Given the description of an element on the screen output the (x, y) to click on. 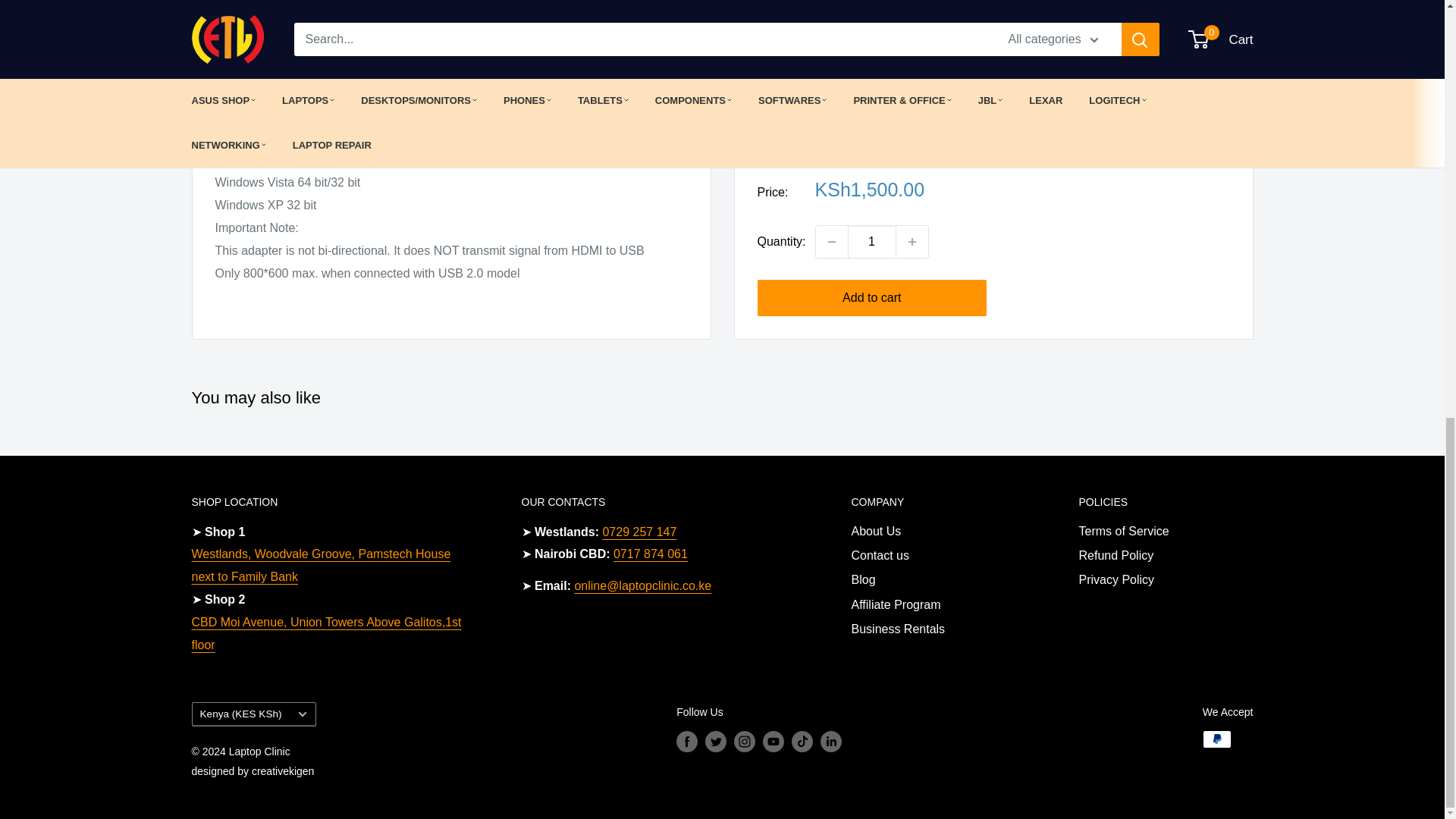
tel:0717 874 061 (649, 553)
tel:0729257147 (639, 531)
